Given the description of an element on the screen output the (x, y) to click on. 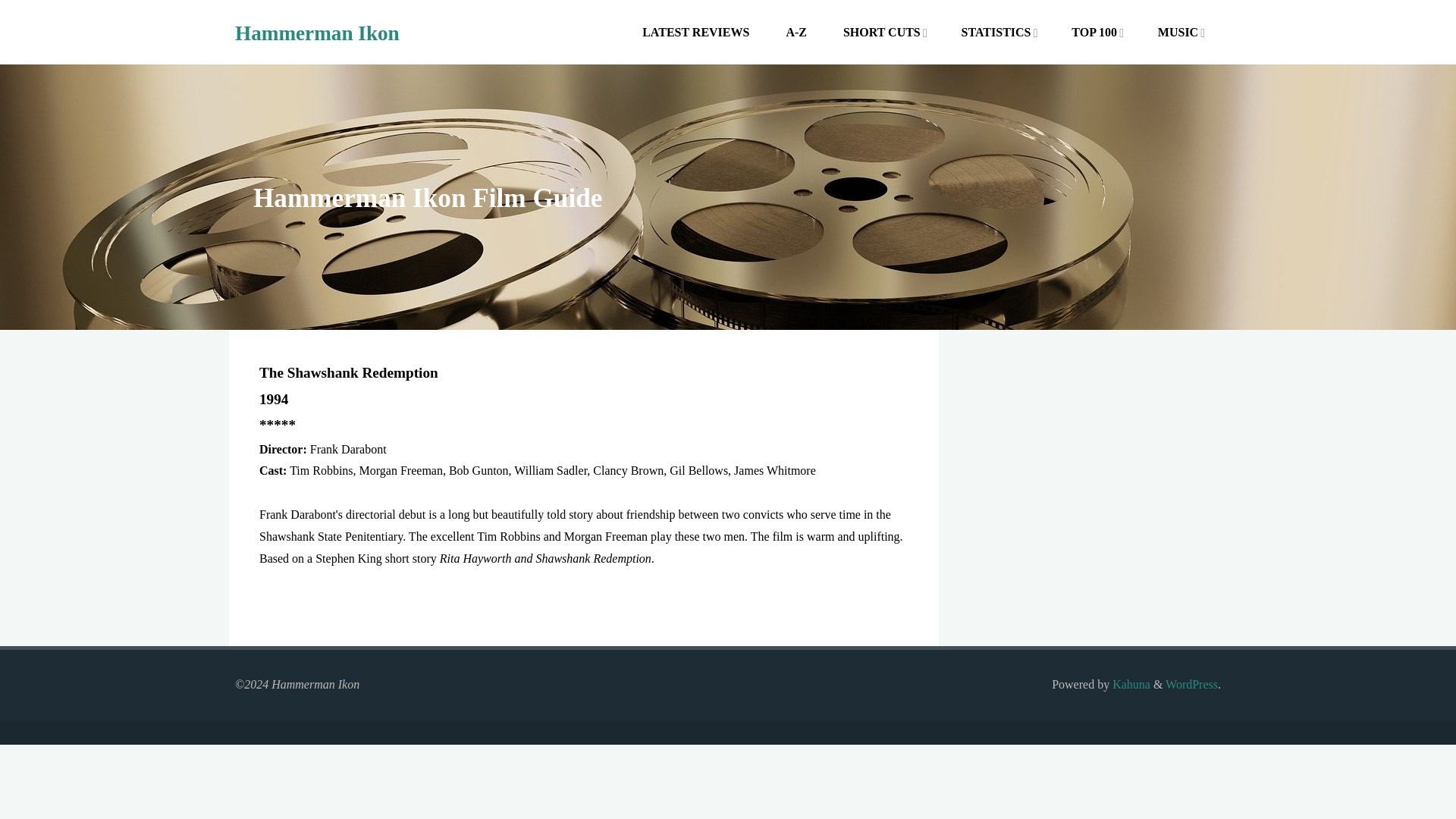
SHORT CUTS (882, 32)
A-Z (796, 32)
Semantic Personal Publishing Platform (1191, 684)
Kahuna WordPress Theme by Cryout Creations (1129, 684)
STATISTICS (995, 32)
LATEST REVIEWS (696, 32)
Hammerman Ikon (316, 33)
